Given the description of an element on the screen output the (x, y) to click on. 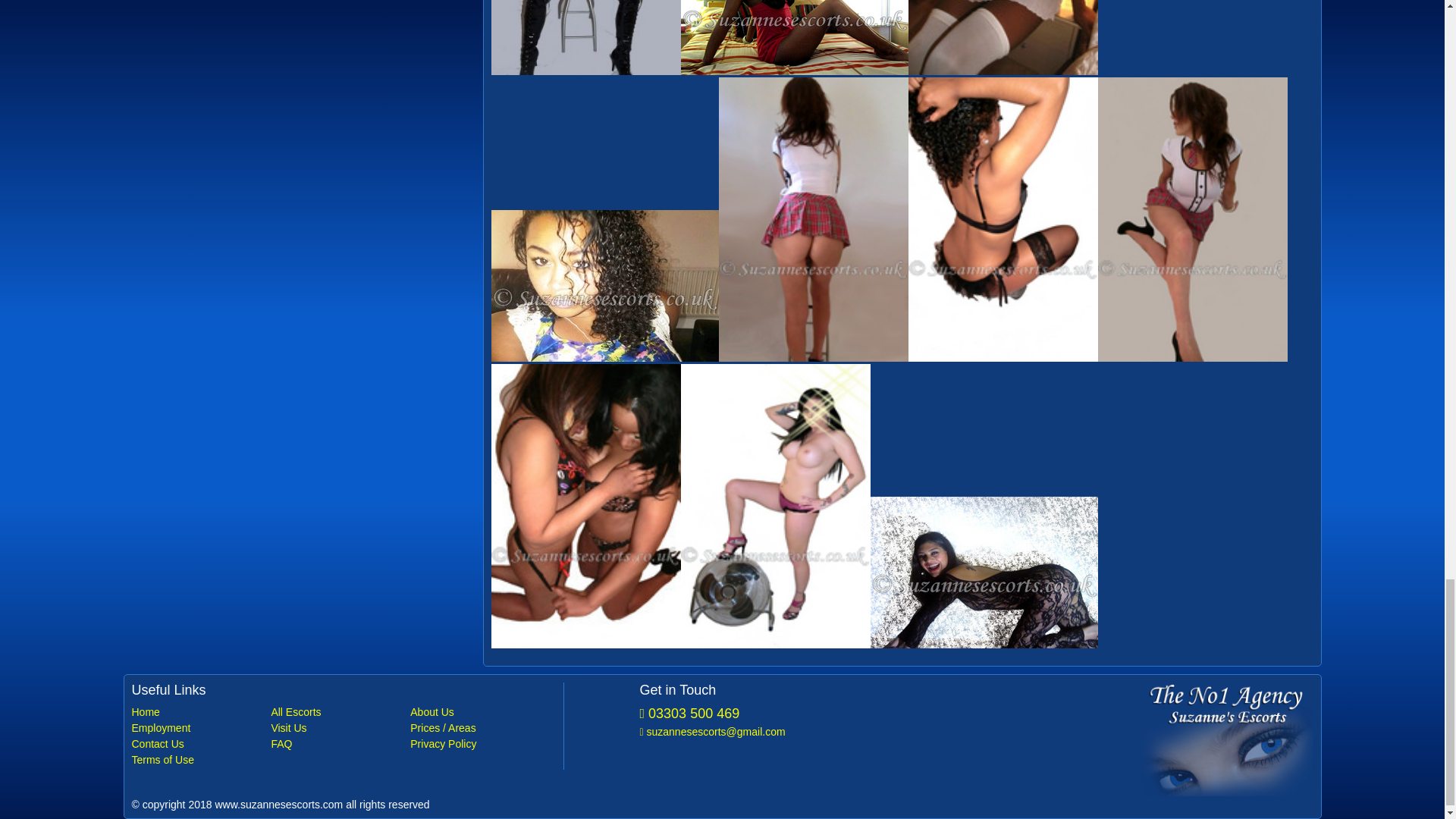
Privacy Policy (478, 743)
All Escorts (338, 711)
Visit Us (338, 727)
Contact Us (199, 743)
FAQ (338, 743)
Employment (199, 727)
Home (199, 711)
About Us (478, 711)
